Given the description of an element on the screen output the (x, y) to click on. 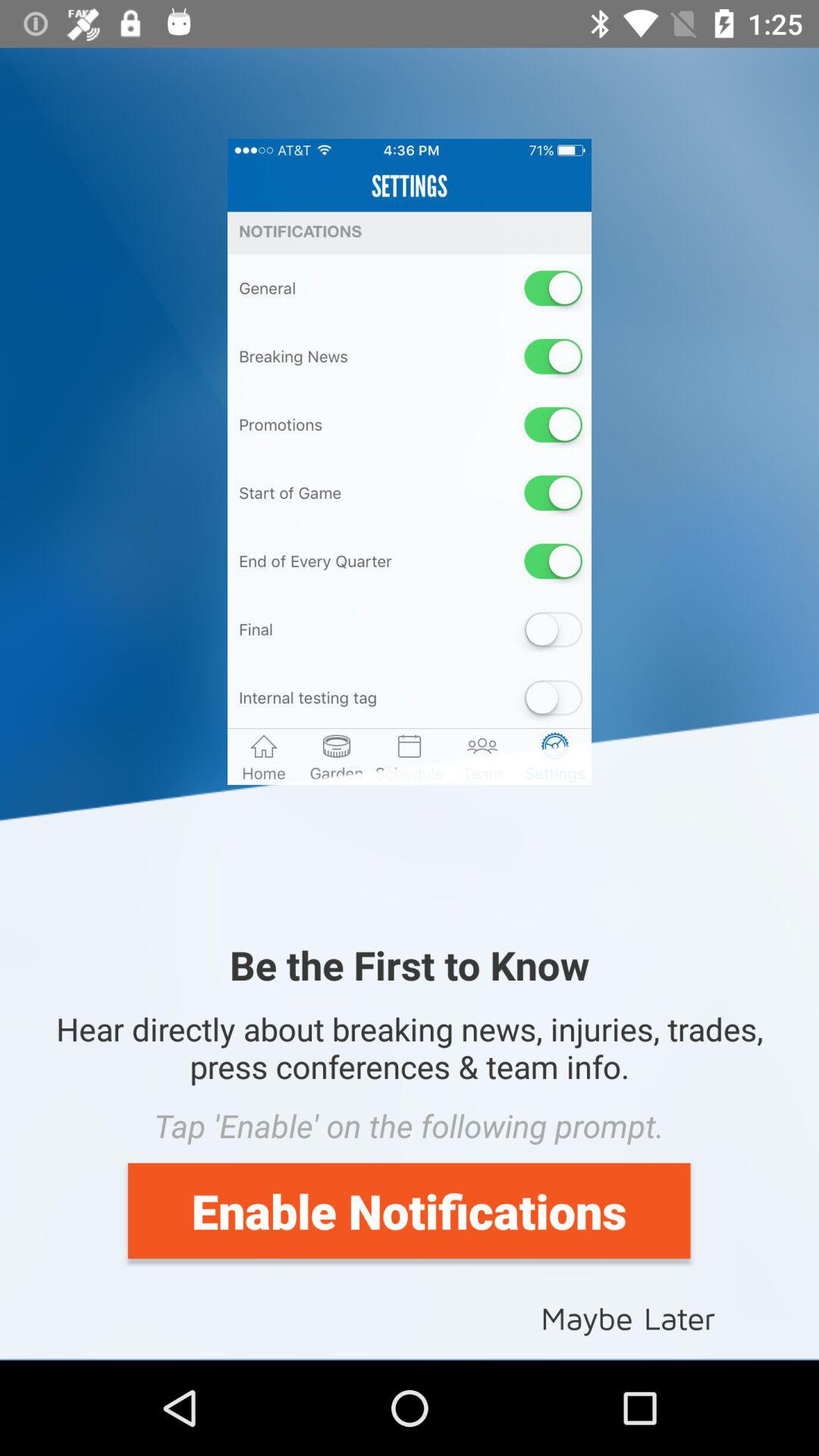
turn on the icon above the maybe later (408, 1210)
